Given the description of an element on the screen output the (x, y) to click on. 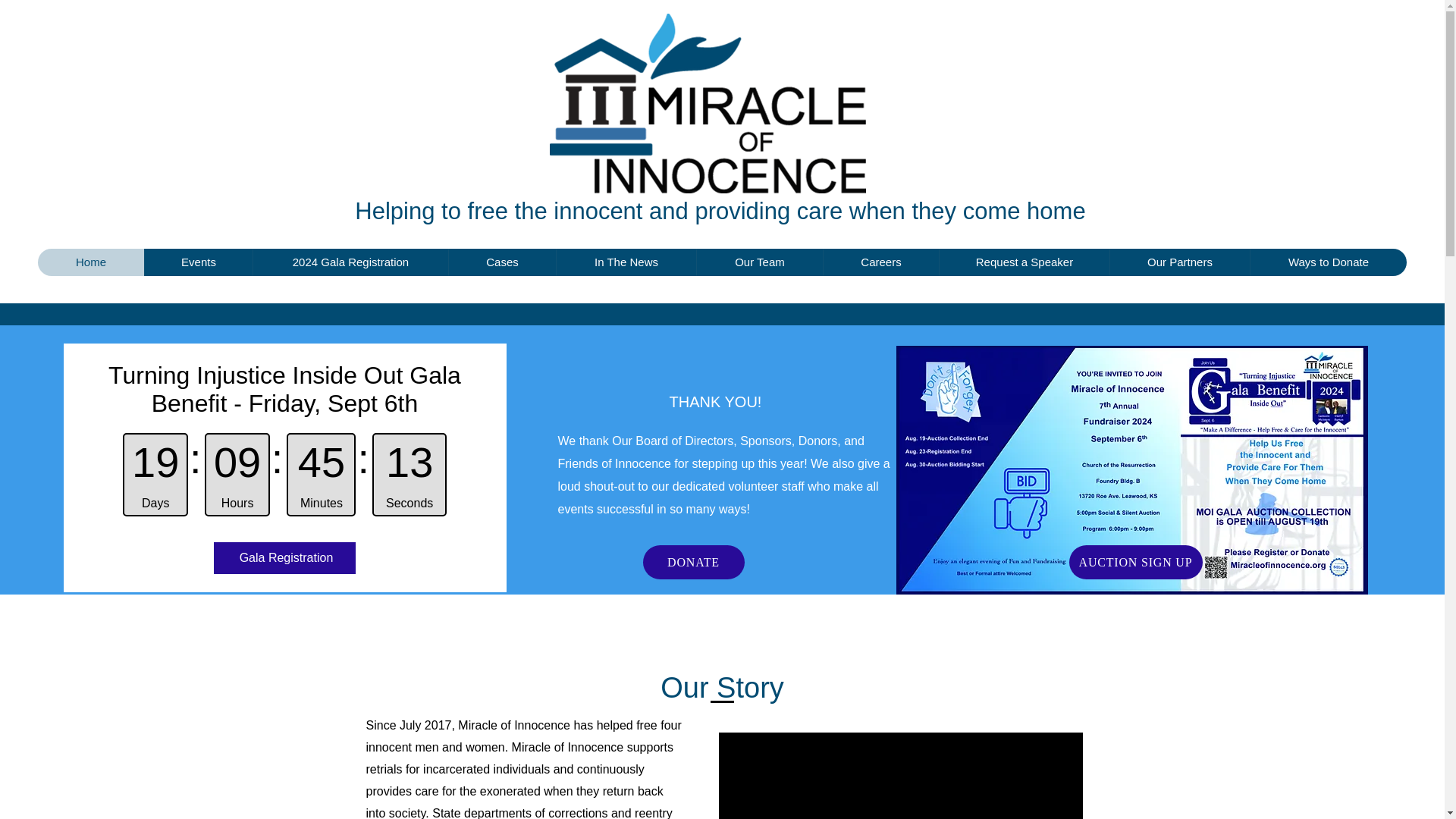
DONATE (693, 562)
Events (197, 262)
Gala Registration (285, 558)
AUCTION SIGN UP (1135, 562)
In The News (625, 262)
Our Team (758, 262)
Cases (502, 262)
Careers (880, 262)
Our Partners (1179, 262)
Request a Speaker (1024, 262)
